Given the description of an element on the screen output the (x, y) to click on. 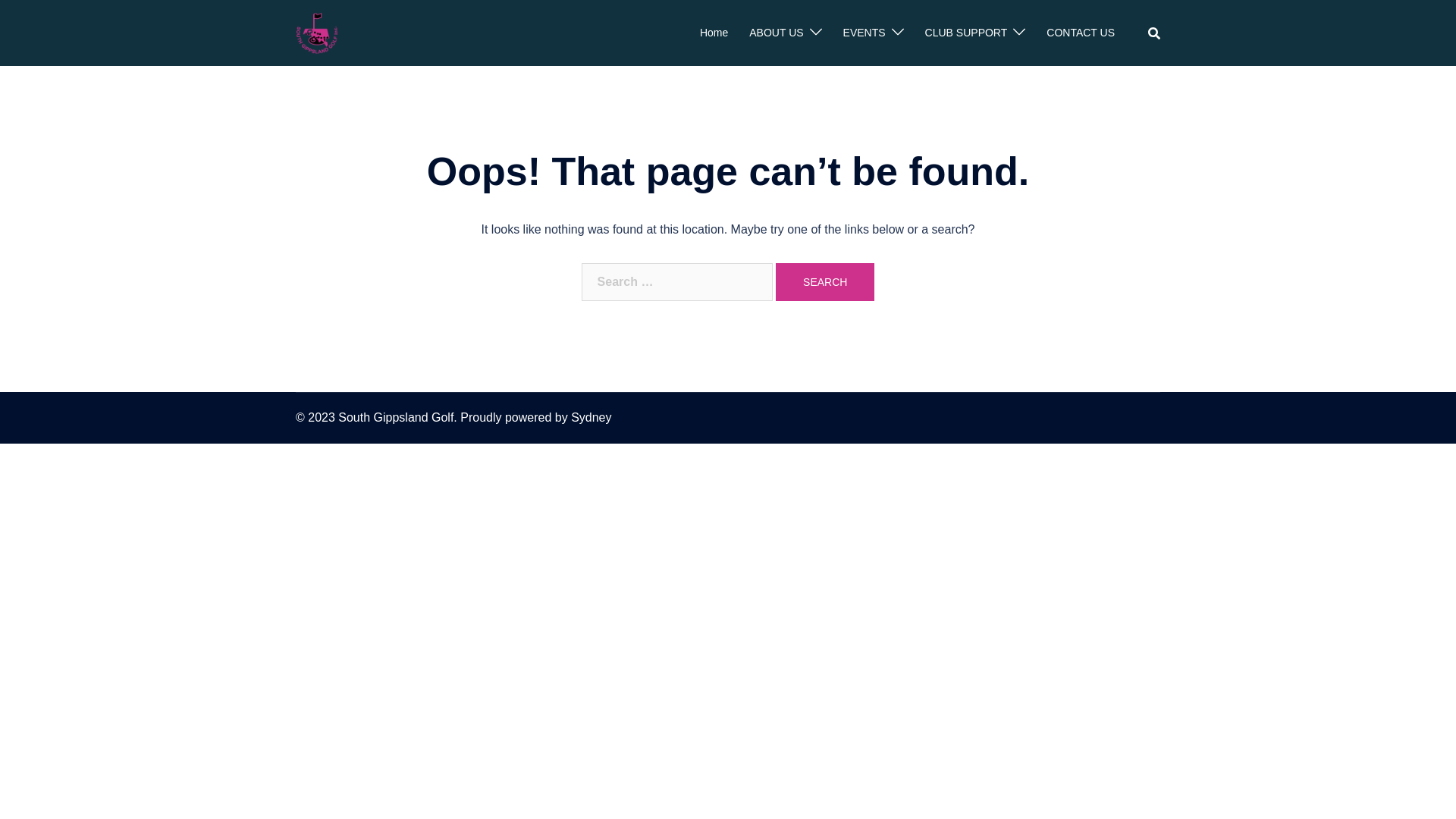
EVENTS Element type: text (864, 33)
ABOUT US Element type: text (776, 33)
Sydney Element type: text (591, 417)
Search Element type: text (824, 282)
CLUB SUPPORT Element type: text (966, 33)
Home Element type: text (713, 33)
South Gippsland Golf Element type: hover (316, 31)
CONTACT US Element type: text (1080, 33)
